Given the description of an element on the screen output the (x, y) to click on. 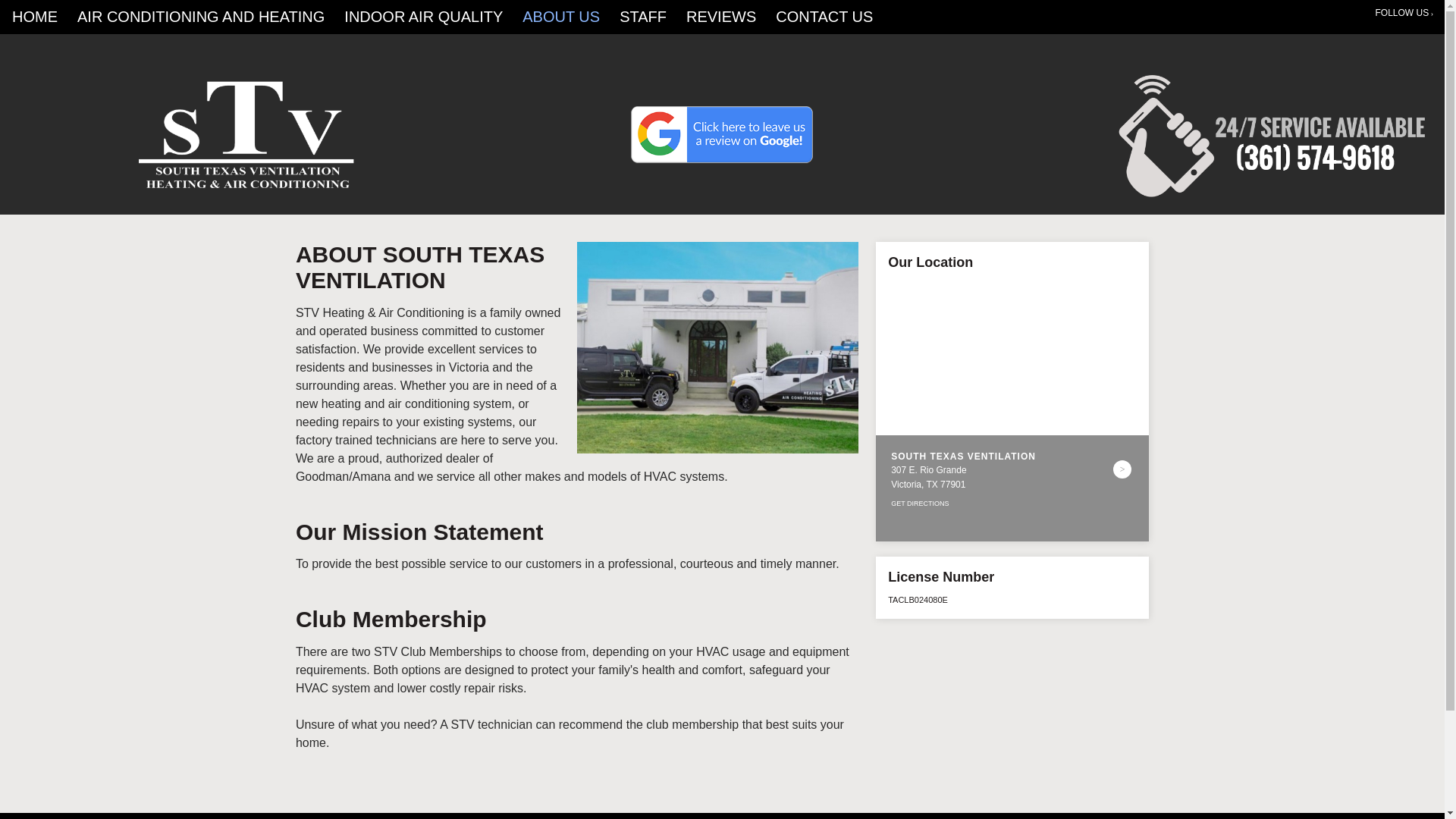
See Details (1122, 469)
CONTACT US (823, 17)
REVIEWS (721, 17)
INDOOR AIR QUALITY (423, 17)
ABOUT US (561, 17)
HOME (34, 17)
STAFF (643, 17)
GET DIRECTIONS (920, 502)
AIR CONDITIONING AND HEATING (200, 17)
